Given the description of an element on the screen output the (x, y) to click on. 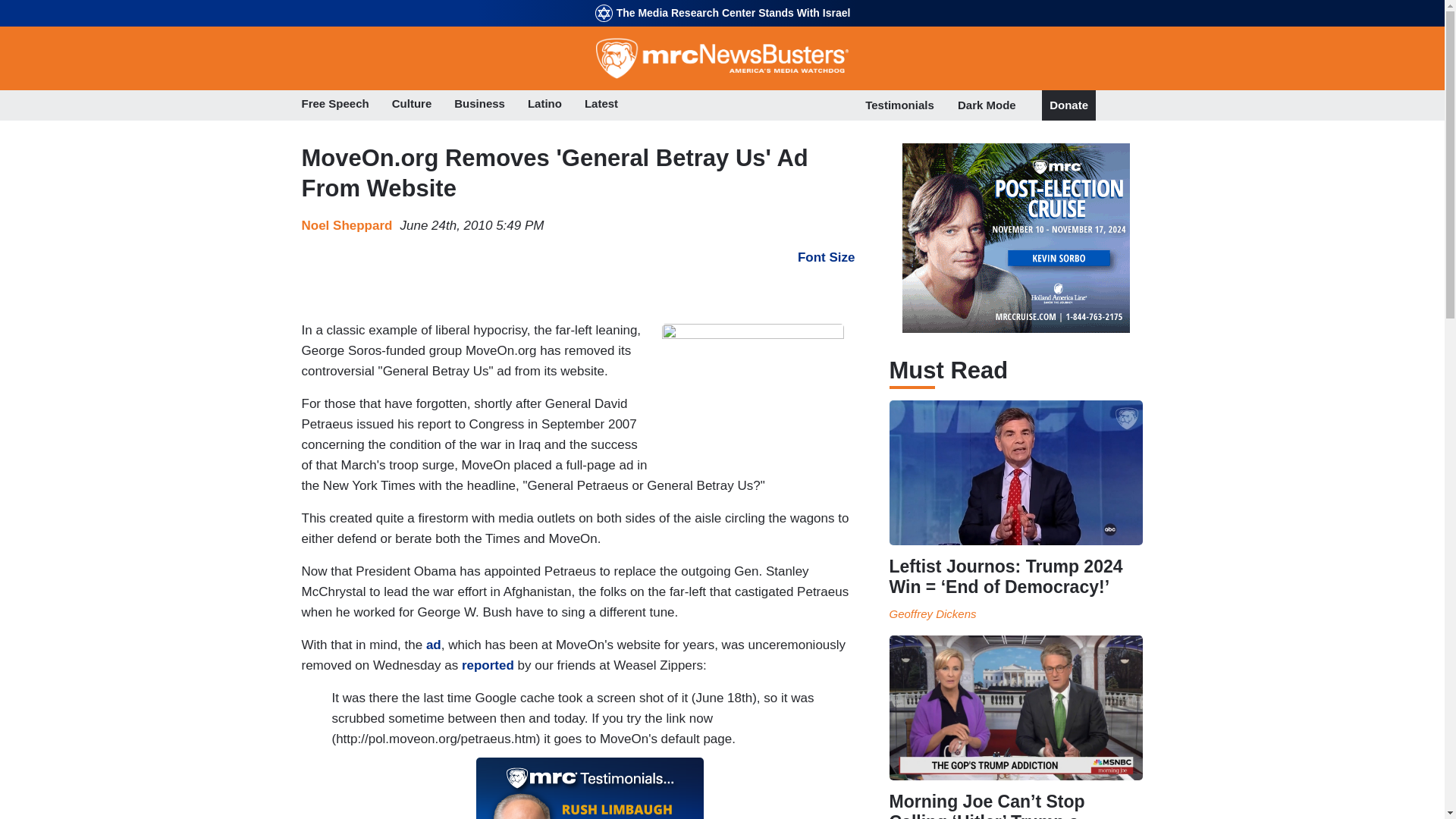
Business (479, 105)
Dark Mode (987, 104)
Latino (544, 105)
Skip to main content (721, 1)
Latest (601, 105)
Donate (1068, 105)
Testimonials (899, 104)
Free Speech (335, 105)
Culture (411, 105)
